Given the description of an element on the screen output the (x, y) to click on. 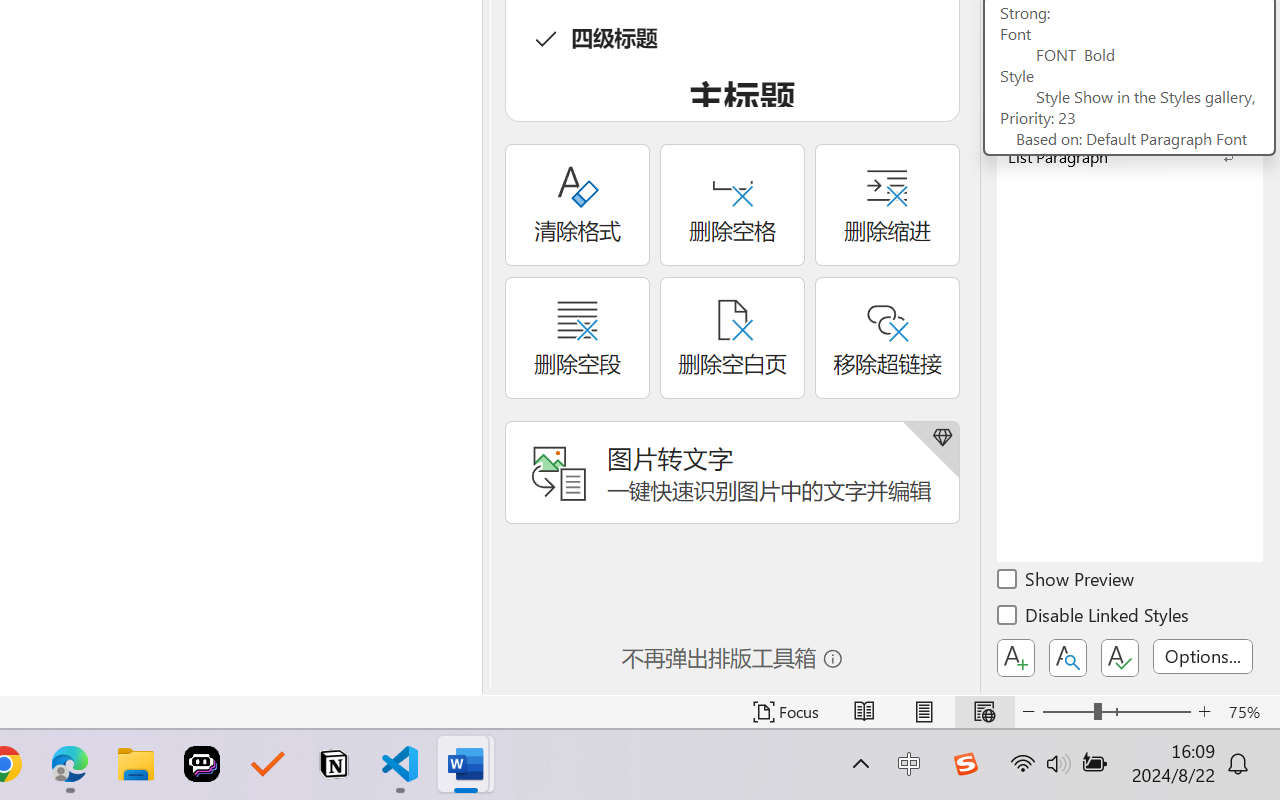
Class: NetUIImage (1116, 156)
Show Preview (1067, 582)
Class: Image (965, 764)
List Paragraph (1130, 156)
Zoom (1116, 712)
Subtle Reference (1130, 60)
Intense Quote (1130, 28)
Options... (1203, 656)
Class: NetUIButton (1119, 657)
